Given the description of an element on the screen output the (x, y) to click on. 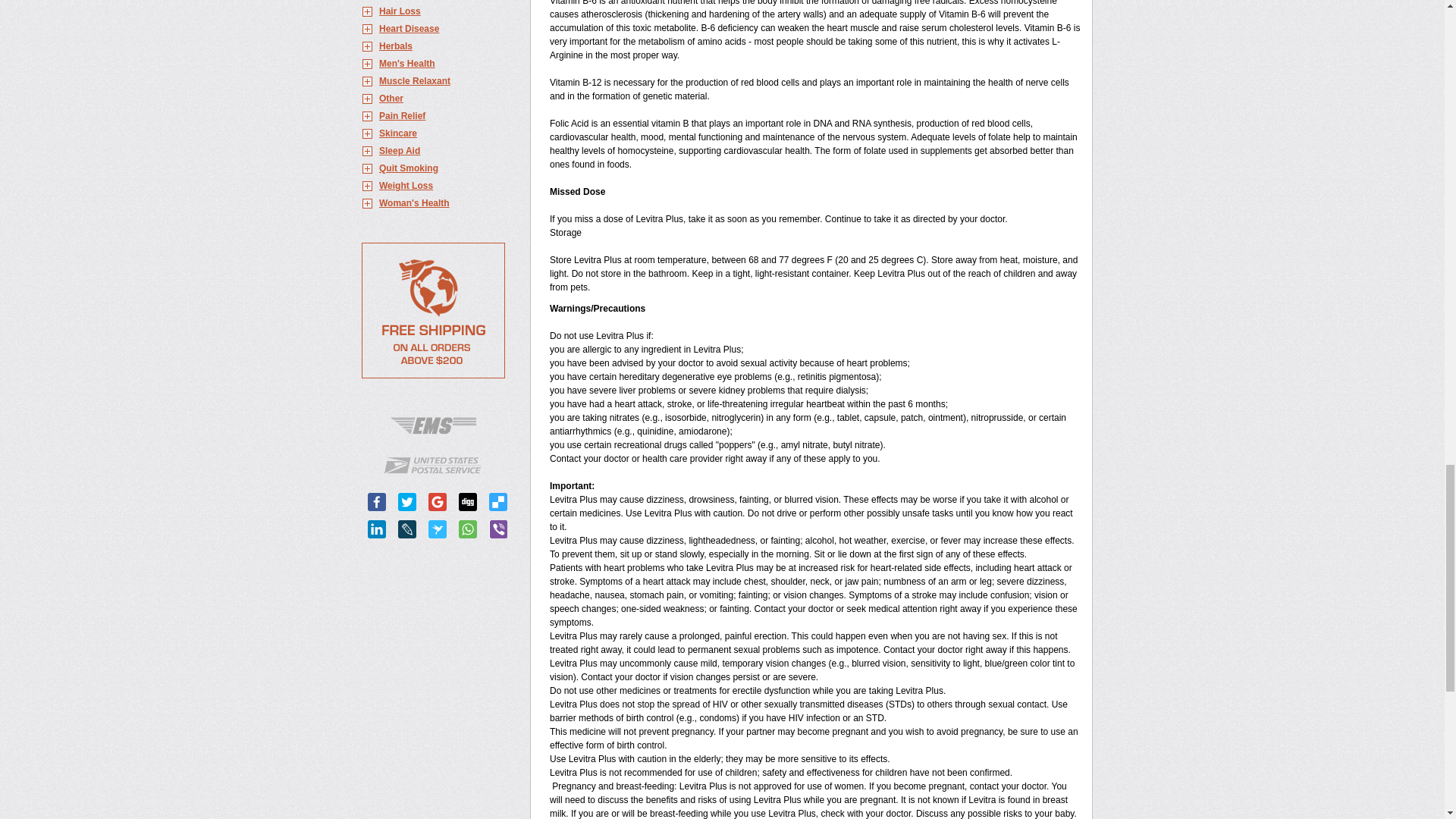
Viber (497, 529)
Whatsapp (467, 529)
Digg (467, 502)
Surfingbird (437, 529)
Twitter (406, 502)
LinkedIn (376, 529)
Livejournal (406, 529)
Delicious (497, 502)
Facebook (376, 502)
